Given the description of an element on the screen output the (x, y) to click on. 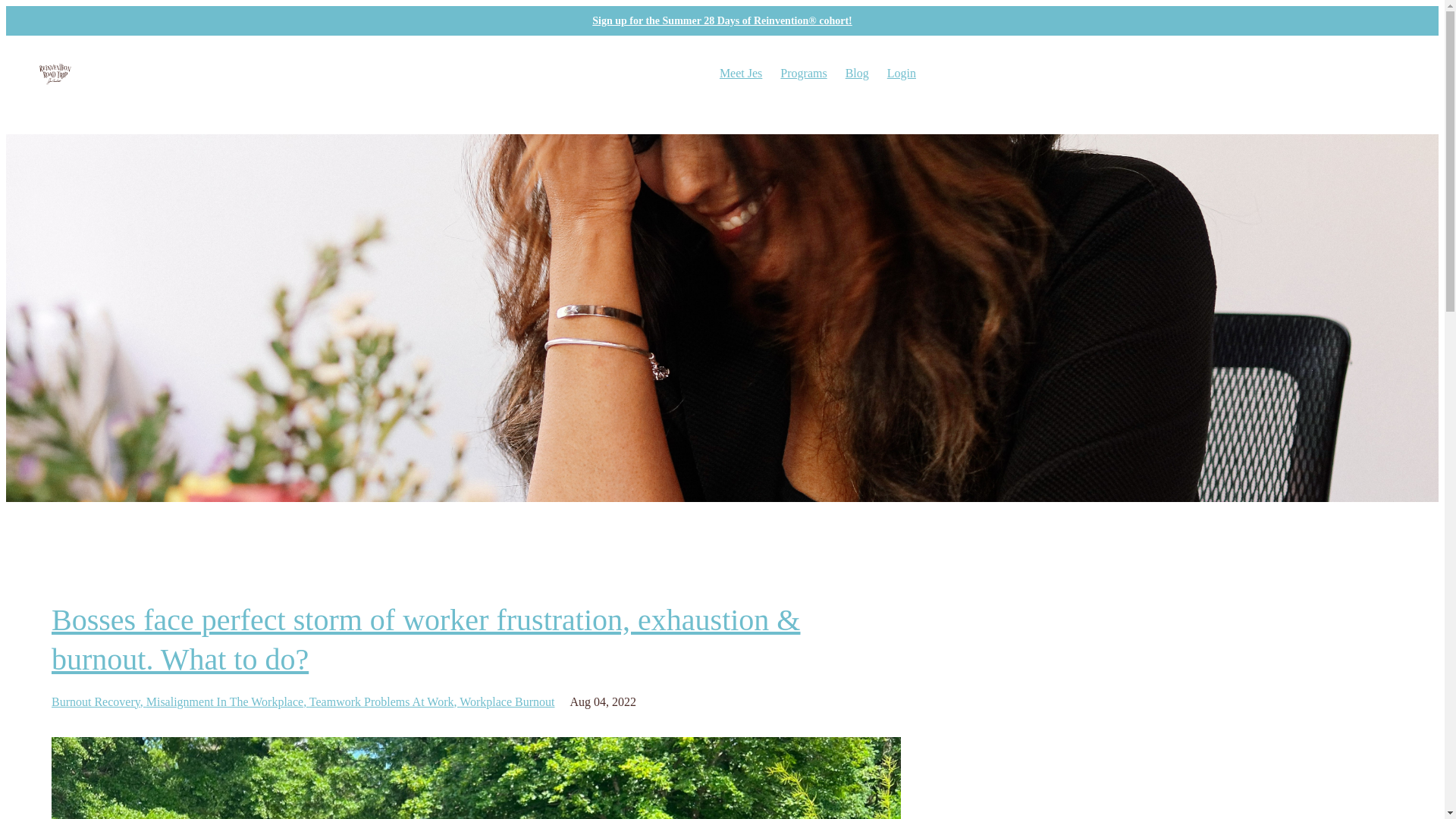
Burnout Recovery (98, 701)
Programs (803, 73)
Teamwork Problems At Work (384, 701)
Login (900, 73)
Workplace Burnout (507, 701)
Meet Jes (740, 73)
Misalignment In The Workplace (227, 701)
